Given the description of an element on the screen output the (x, y) to click on. 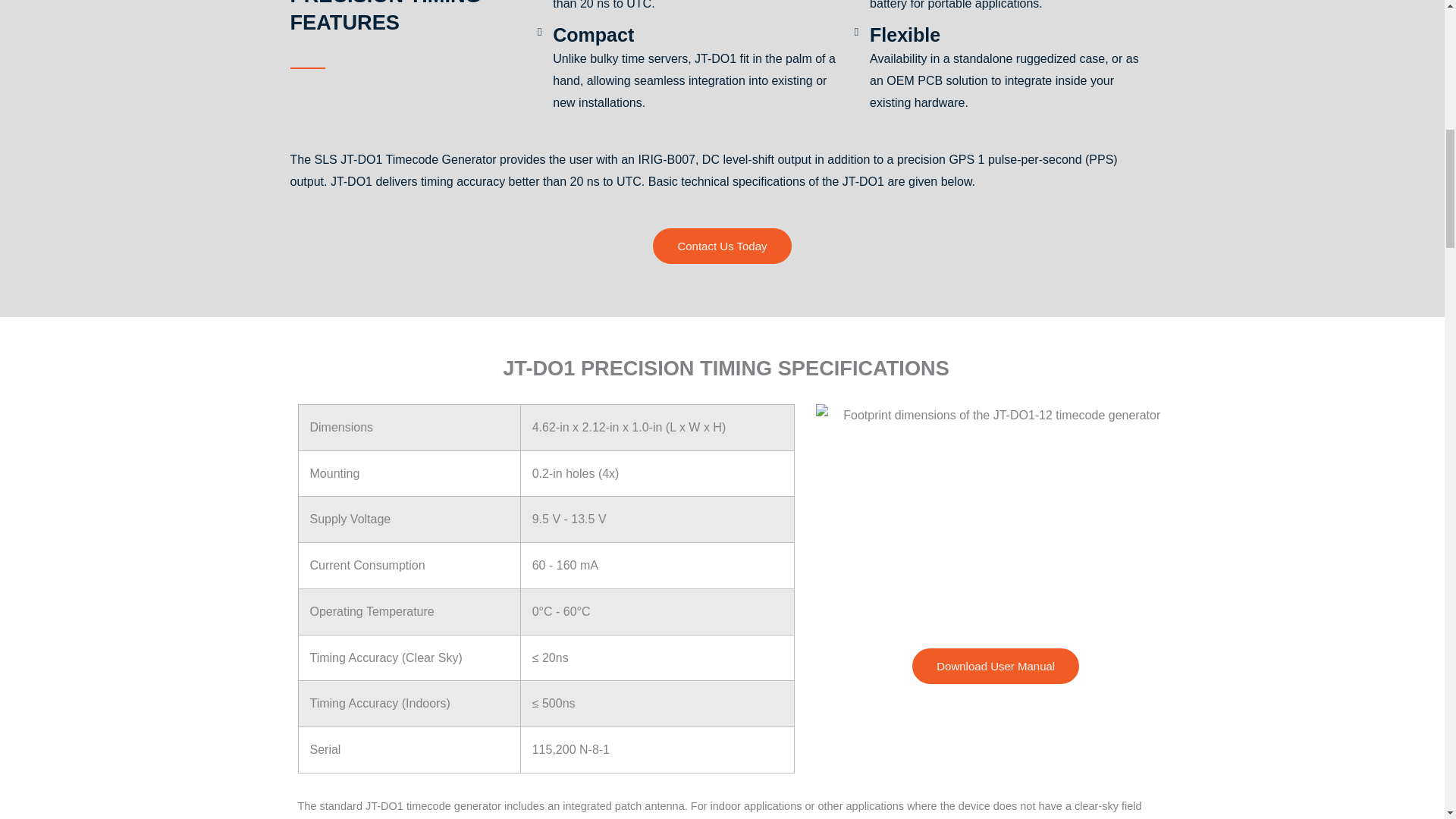
Page 40 (722, 807)
